Given the description of an element on the screen output the (x, y) to click on. 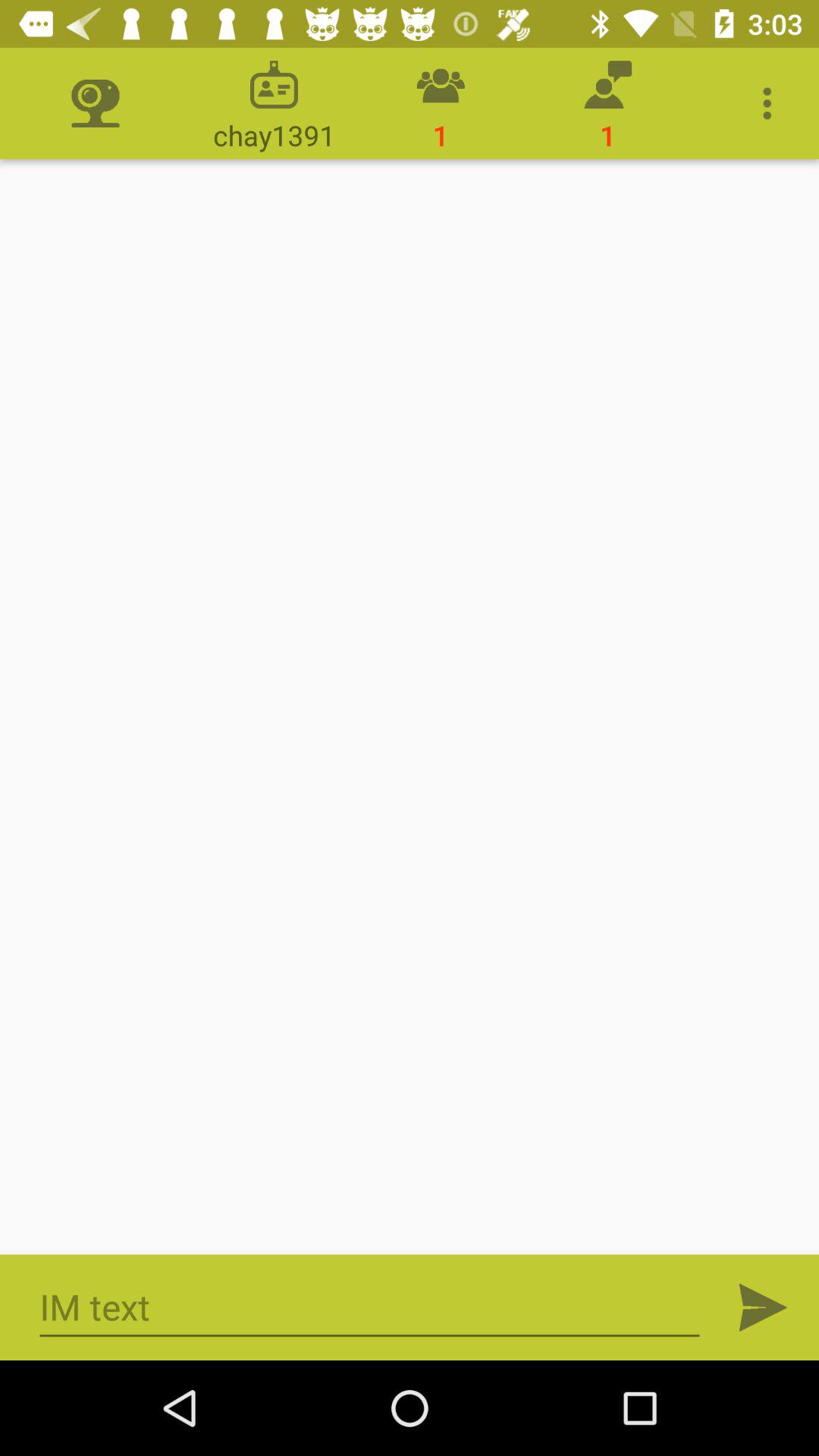
enter text (369, 1307)
